Given the description of an element on the screen output the (x, y) to click on. 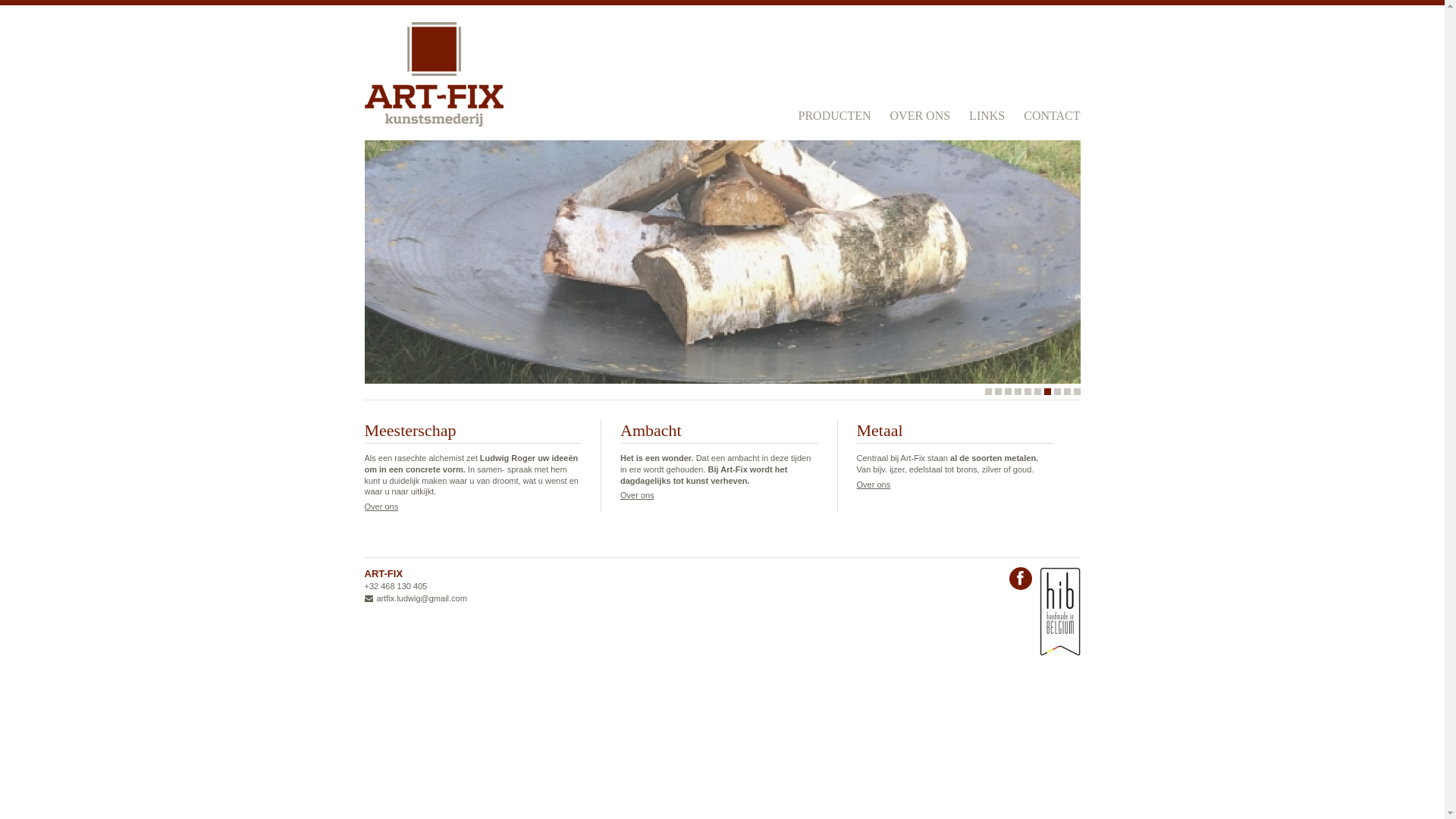
Over ons Element type: text (381, 506)
CONTACT Element type: text (1051, 114)
9 Element type: text (1066, 391)
4 Element type: text (1017, 391)
Over ons Element type: text (637, 494)
10 Element type: text (1076, 391)
Handmade in Belgium Element type: text (1058, 611)
6 Element type: text (1037, 391)
3 Element type: text (1007, 391)
PRODUCTEN Element type: text (834, 114)
Art-fix Element type: text (433, 73)
7 Element type: text (1046, 391)
2 Element type: text (997, 391)
Over ons Element type: text (873, 484)
artfix.ludwig@gmail.com Element type: text (415, 597)
8 Element type: text (1057, 391)
5 Element type: text (1026, 391)
1 Element type: text (987, 391)
OVER ONS Element type: text (920, 114)
LINKS Element type: text (986, 114)
